Given the description of an element on the screen output the (x, y) to click on. 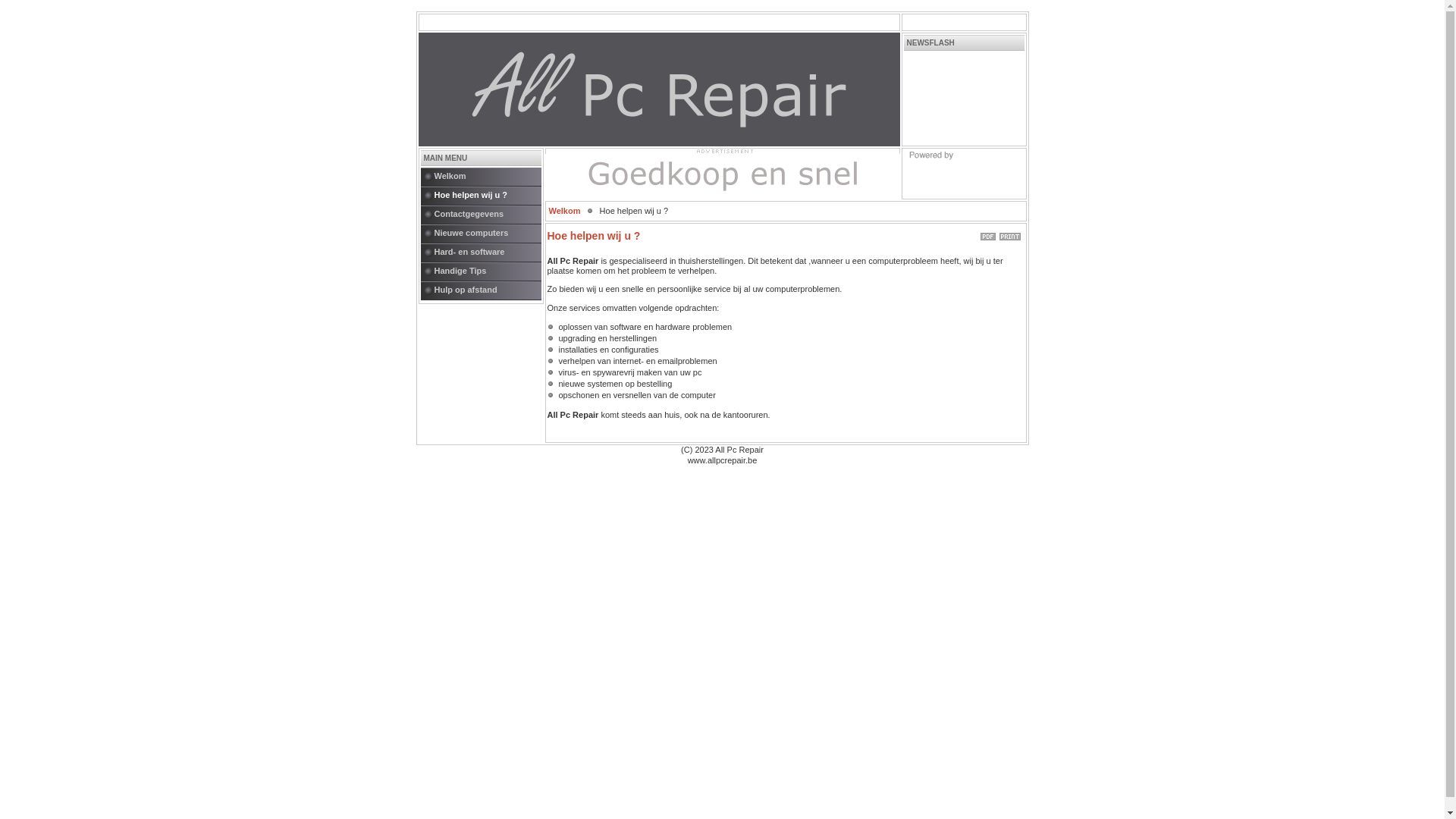
Afdrukken Element type: hover (1009, 233)
Contactgegevens Element type: text (487, 214)
Nieuwe computers Element type: text (487, 233)
Welkom Element type: text (564, 210)
Hulp op afstand Element type: text (487, 290)
PDF Element type: hover (986, 233)
Hoe helpen wij u ? Element type: text (487, 195)
powered_by Element type: hover (963, 173)
Welkom Element type: text (487, 176)
Hard- en software Element type: text (487, 252)
Handige Tips Element type: text (487, 271)
advertisement Element type: hover (721, 150)
